Given the description of an element on the screen output the (x, y) to click on. 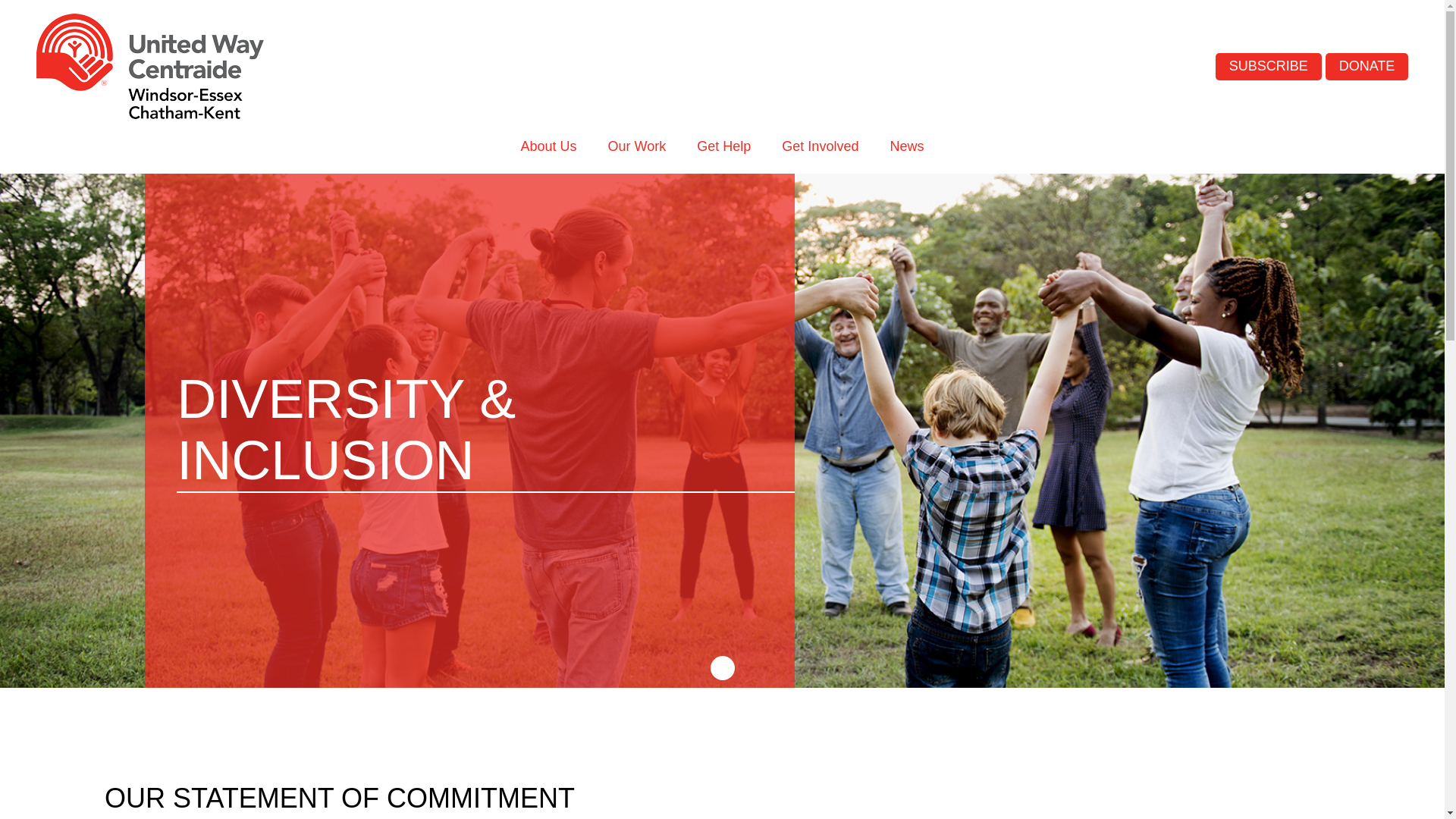
About Us (548, 145)
News (906, 145)
Get Involved (820, 145)
SUBSCRIBE (1268, 66)
Get Help (723, 145)
Our Work (636, 145)
DONATE (1366, 66)
